Given the description of an element on the screen output the (x, y) to click on. 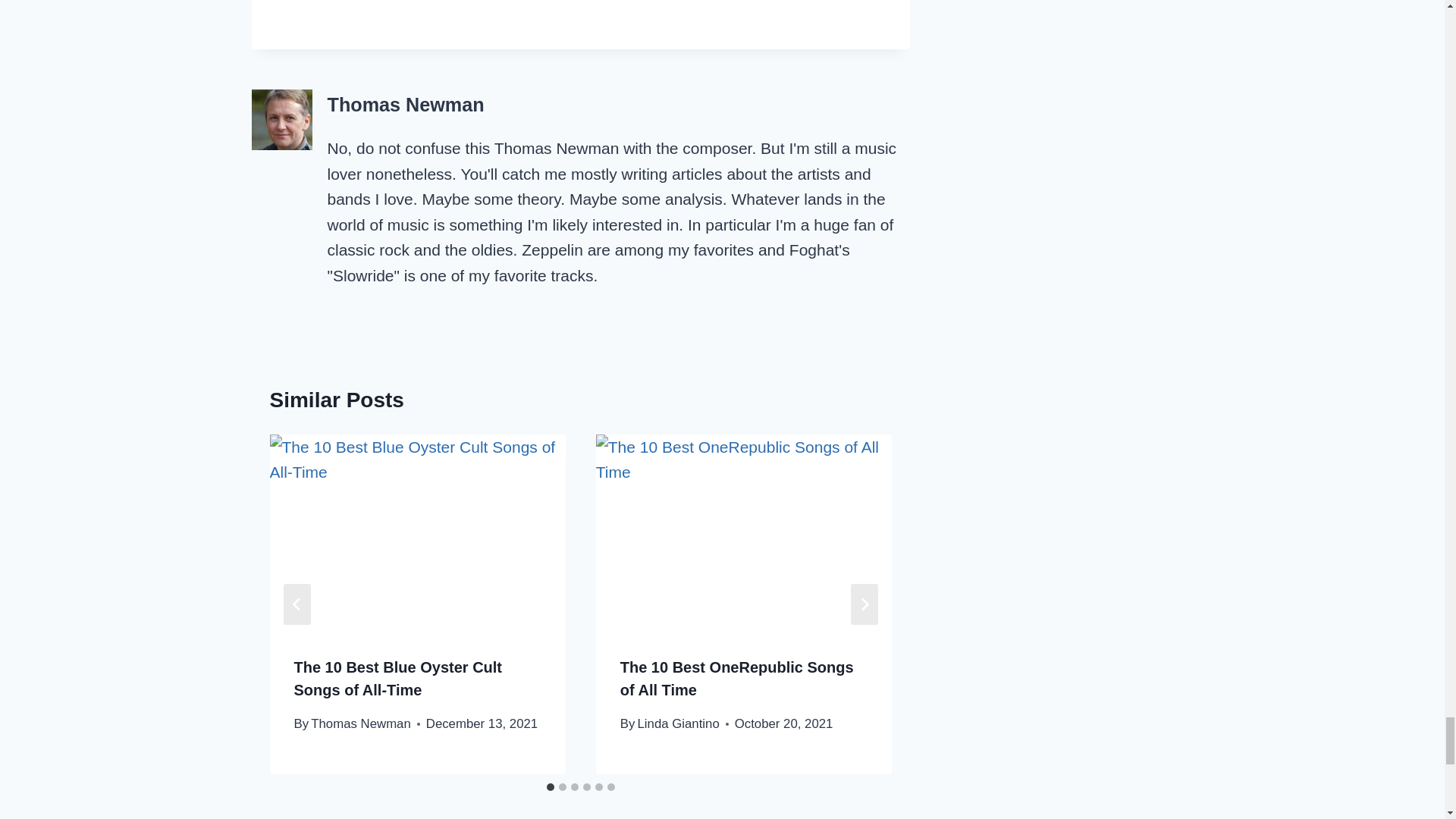
The 10 Best OneRepublic Songs of All Time (736, 678)
The 10 Best Blue Oyster Cult Songs of All-Time (398, 678)
Thomas Newman (405, 104)
Linda Giantino (678, 723)
Thomas Newman (360, 723)
